Given the description of an element on the screen output the (x, y) to click on. 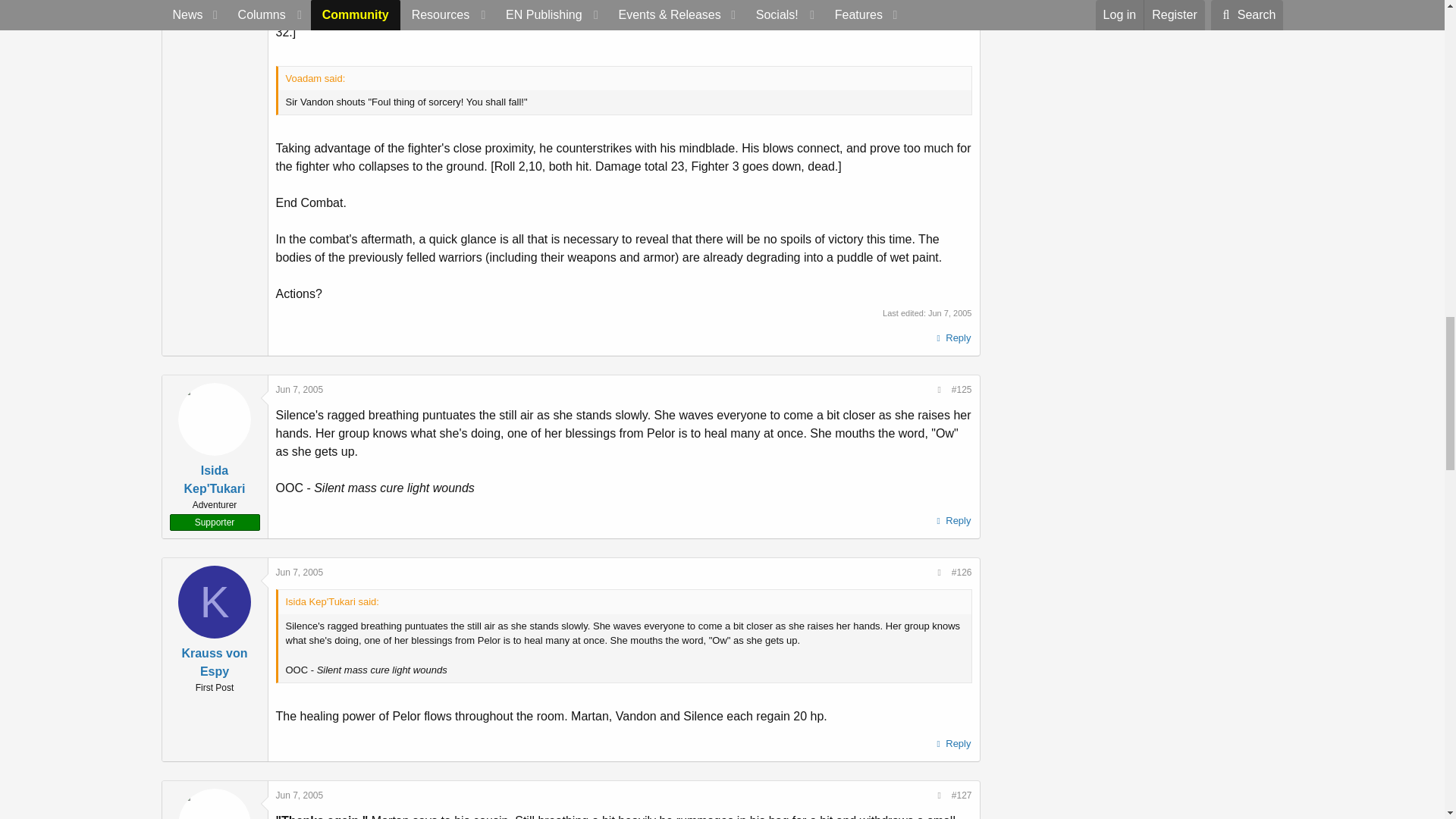
Jun 7, 2005 at 3:51 AM (299, 389)
Jun 7, 2005 at 3:39 AM (950, 312)
Reply, quoting this message (952, 337)
